Given the description of an element on the screen output the (x, y) to click on. 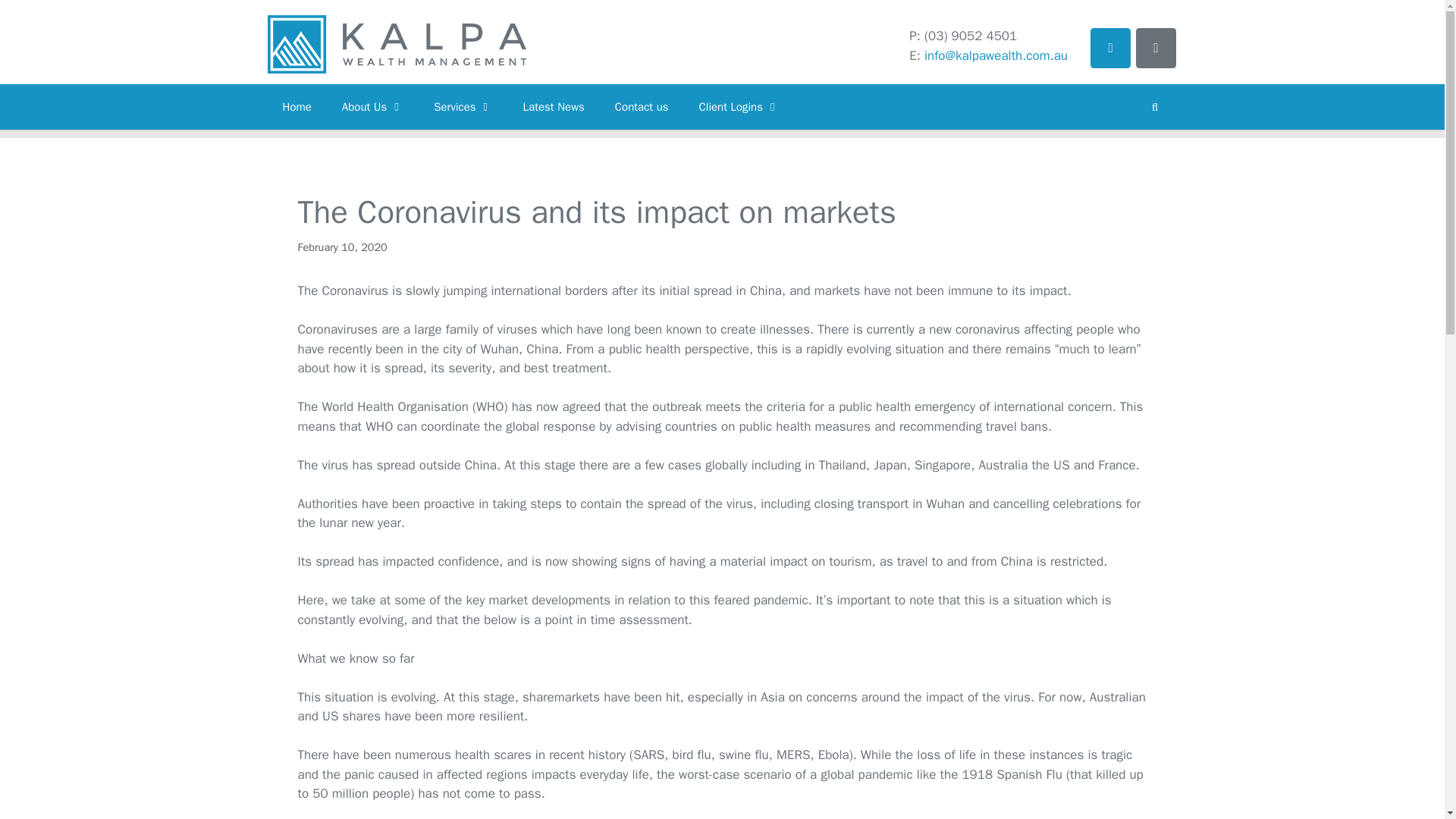
Services (462, 106)
About Us (372, 106)
Kalpa Wealth Management on Email (1155, 47)
Kalpa Wealth Management on Linkedin (1110, 47)
Home (296, 106)
